Given the description of an element on the screen output the (x, y) to click on. 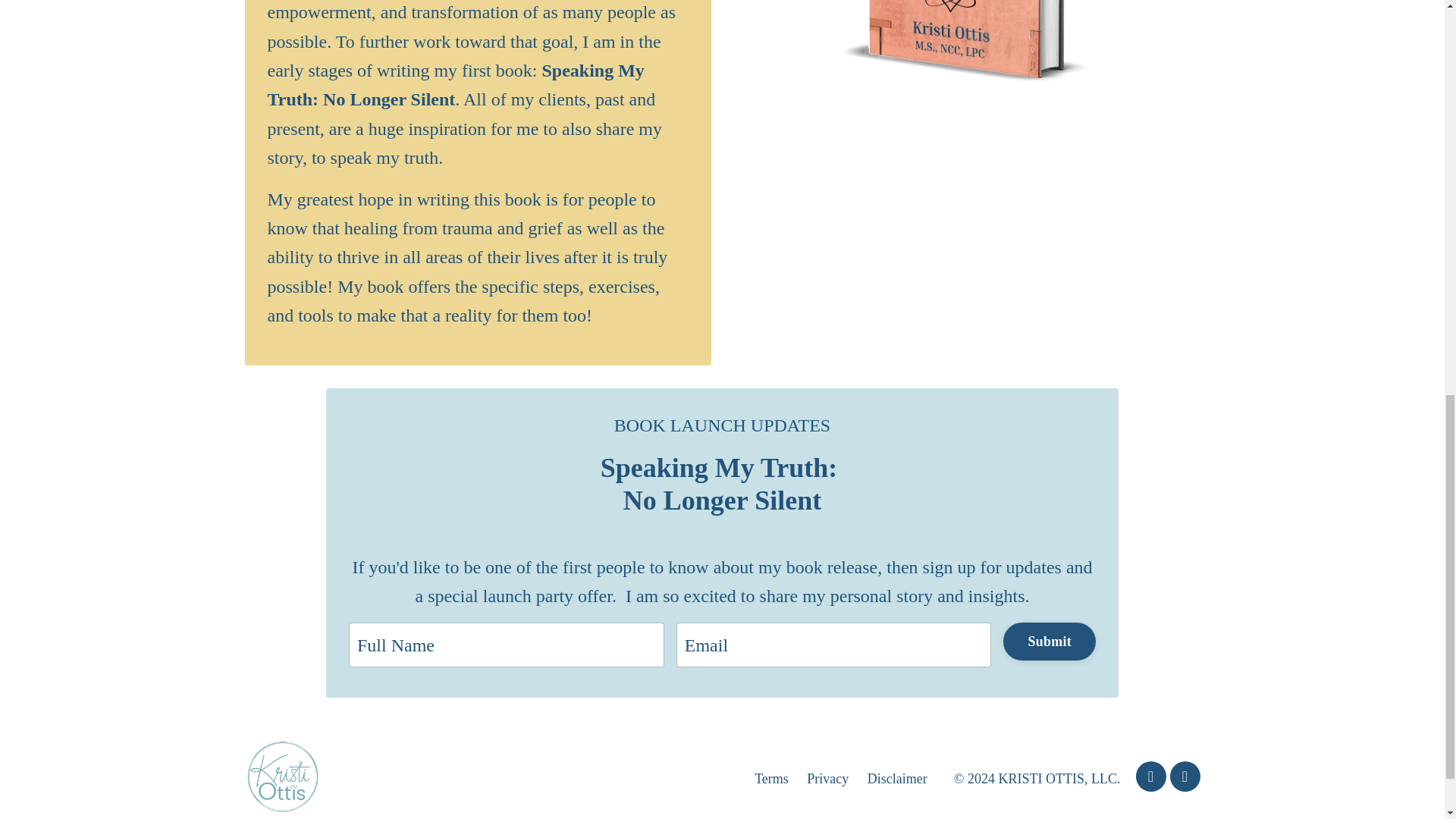
Submit (1049, 641)
Disclaimer (897, 778)
Terms (771, 778)
Privacy (827, 778)
